Given the description of an element on the screen output the (x, y) to click on. 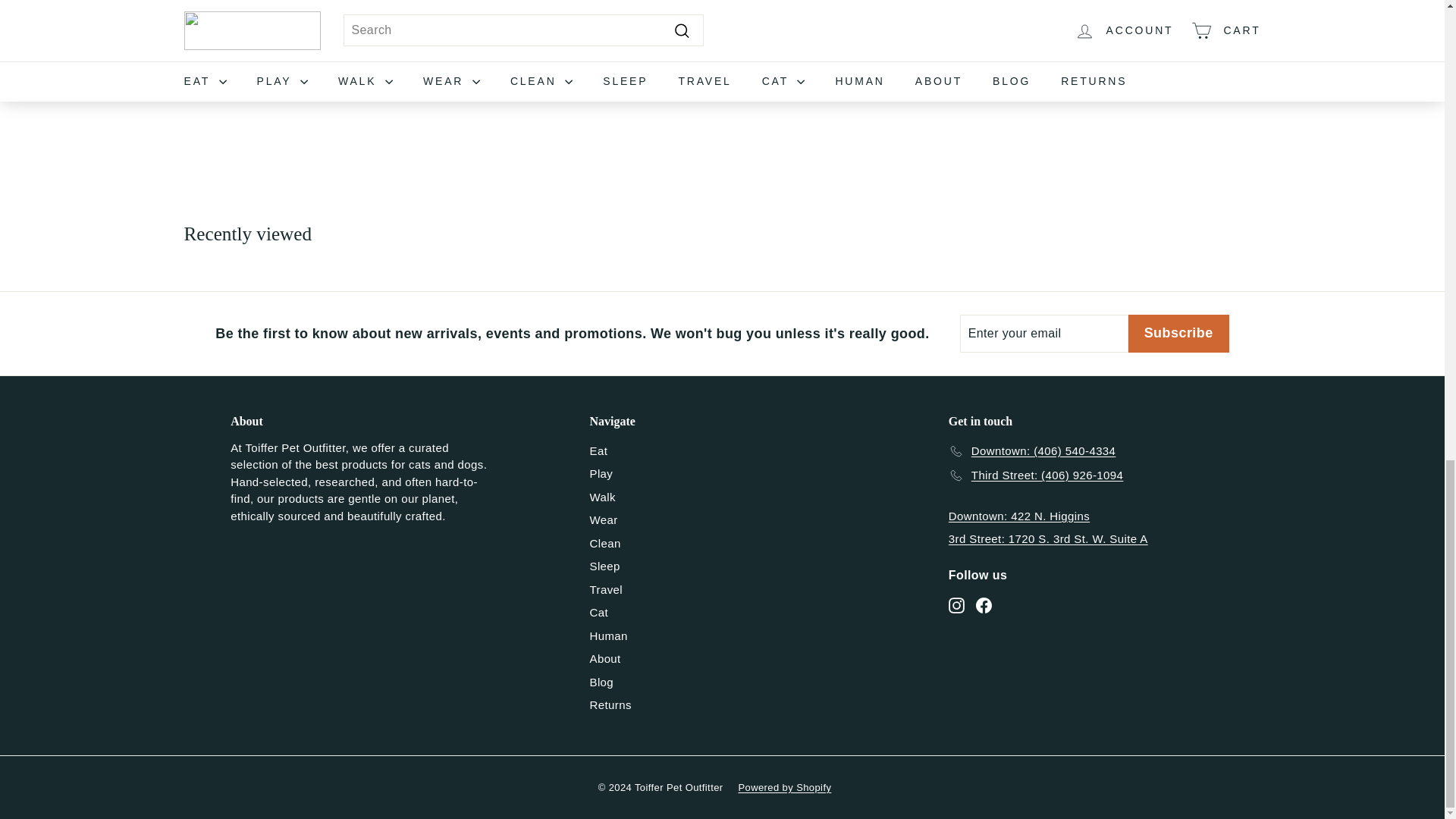
instagram (956, 605)
Toiffer Pet Outfitter on Instagram (956, 604)
Toiffer Pet Outfitter on Facebook (983, 604)
